Given the description of an element on the screen output the (x, y) to click on. 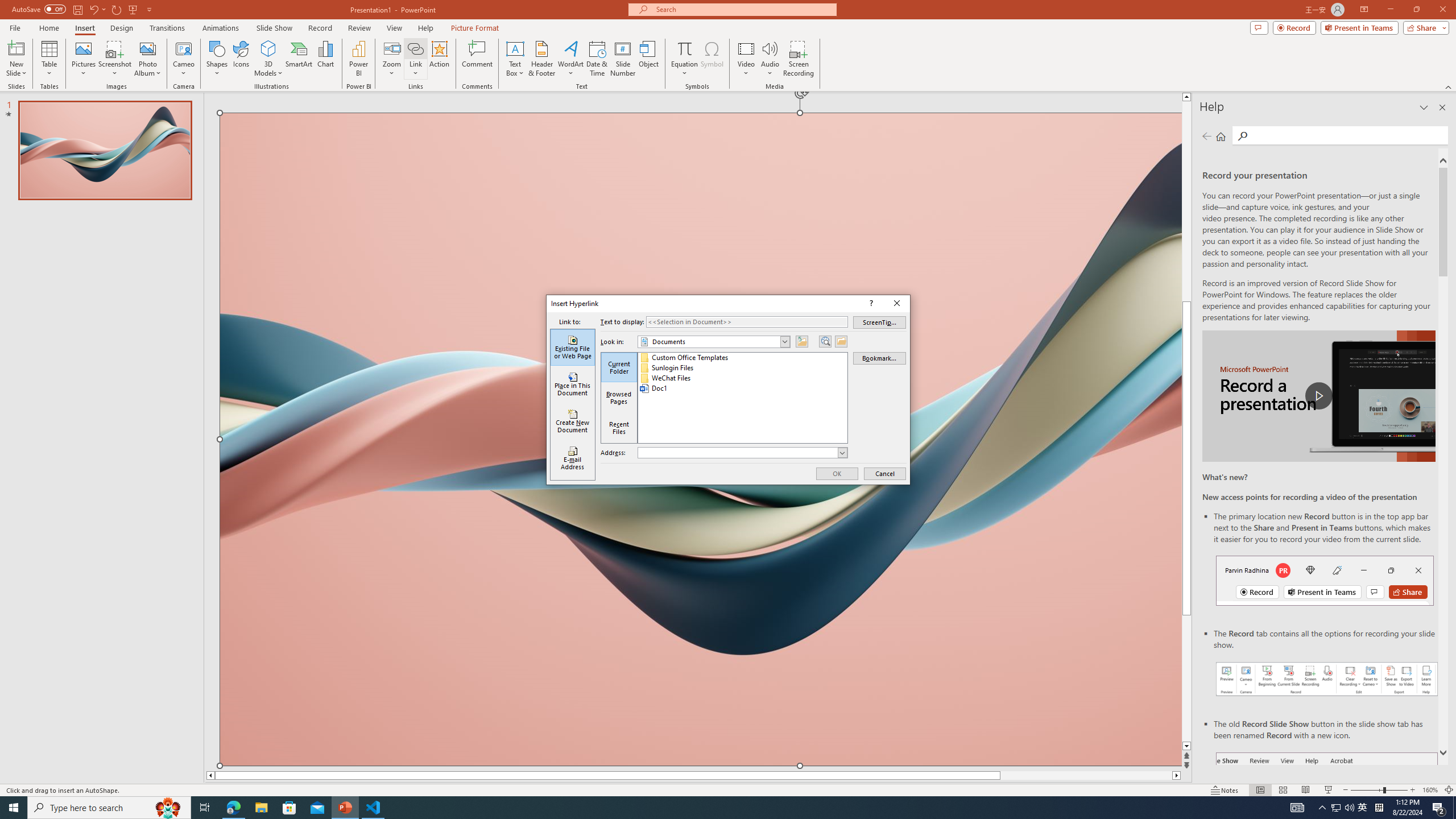
Action (439, 58)
Bookmark... (880, 358)
Power BI (358, 58)
Chart... (325, 58)
